Given the description of an element on the screen output the (x, y) to click on. 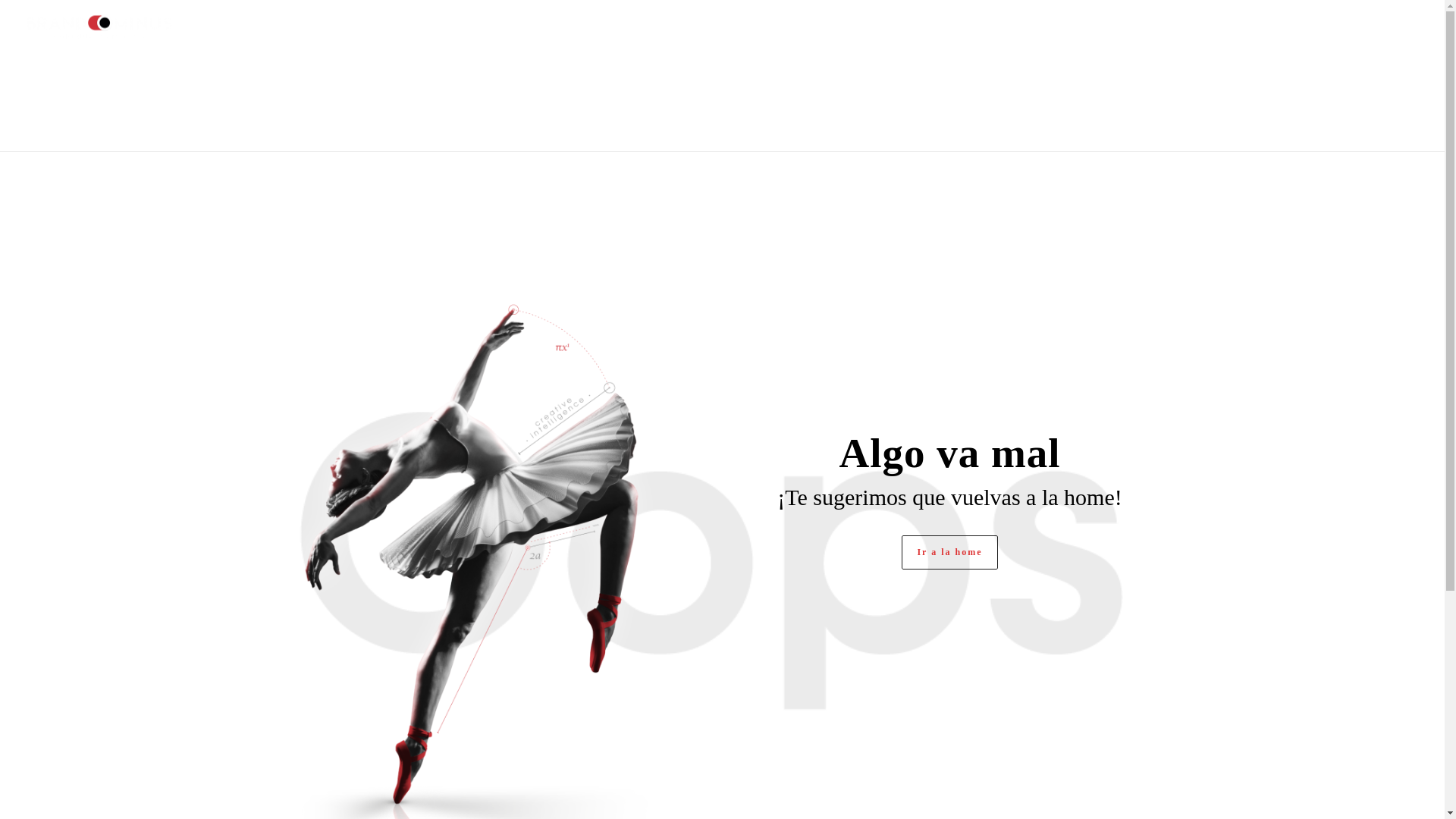
BLOG (1317, 26)
Ir a la home (949, 552)
CONTACTO (1383, 26)
